Given the description of an element on the screen output the (x, y) to click on. 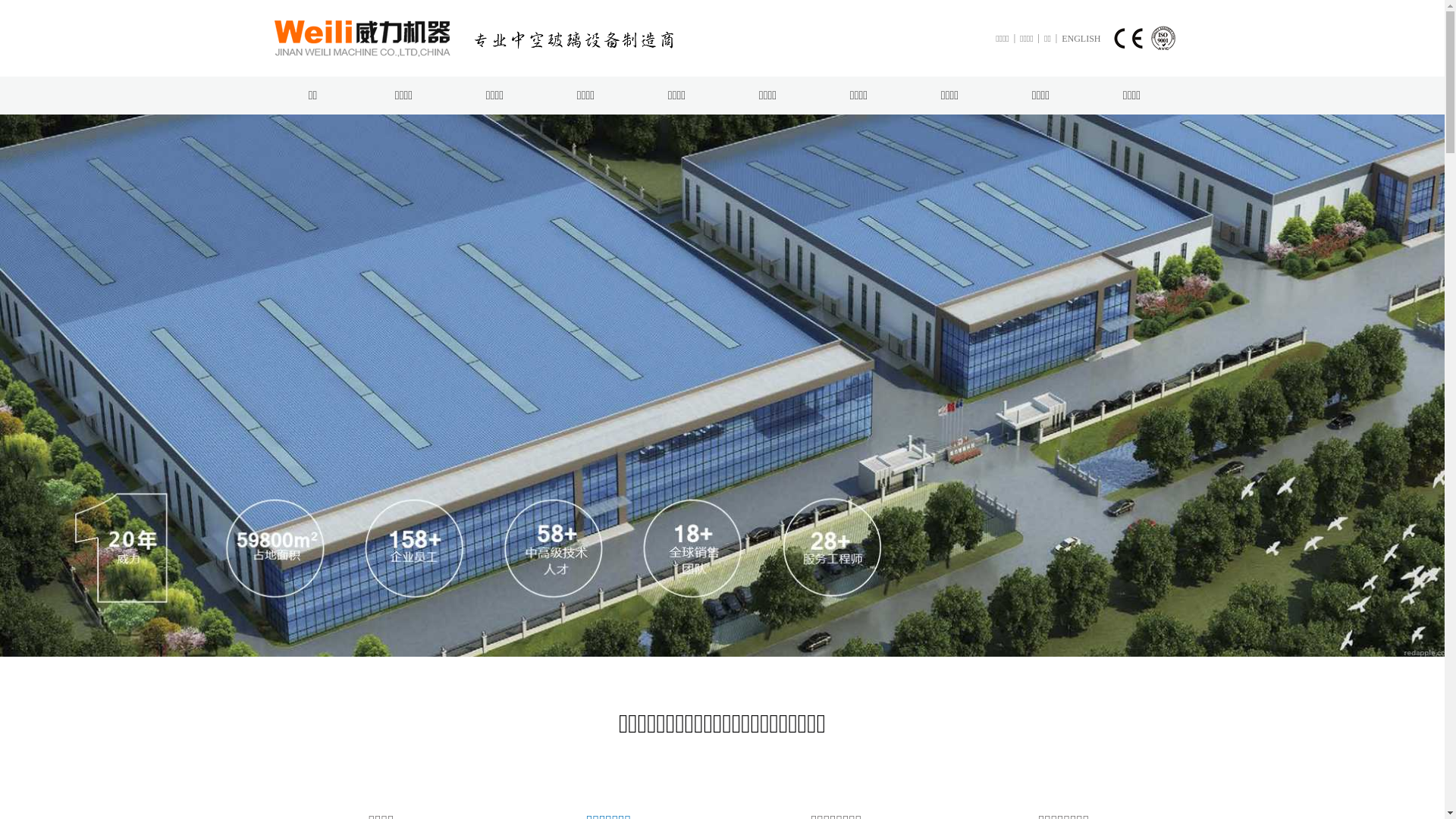
ENGLISH Element type: text (1080, 38)
